Given the description of an element on the screen output the (x, y) to click on. 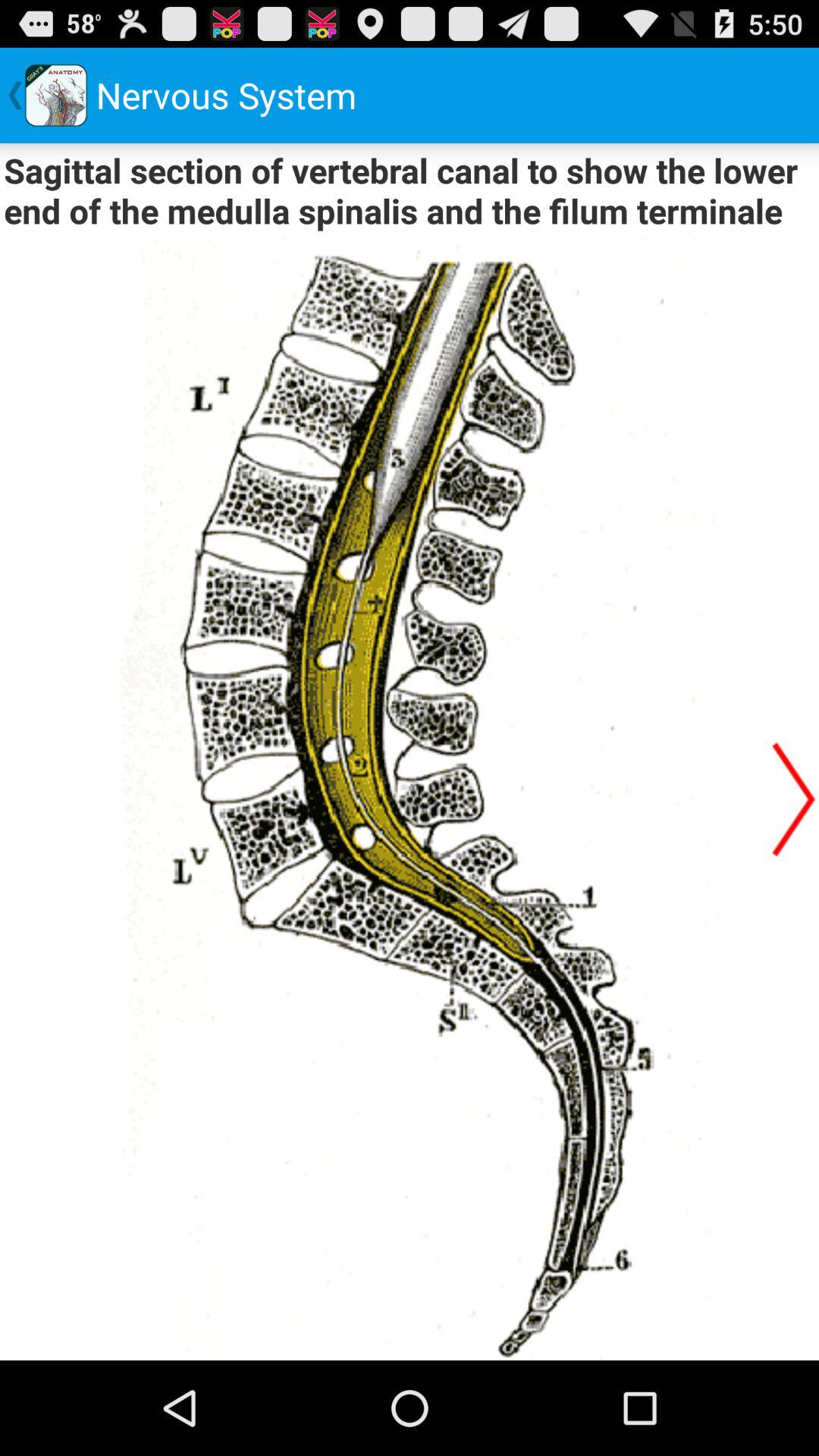
next item (793, 798)
